Given the description of an element on the screen output the (x, y) to click on. 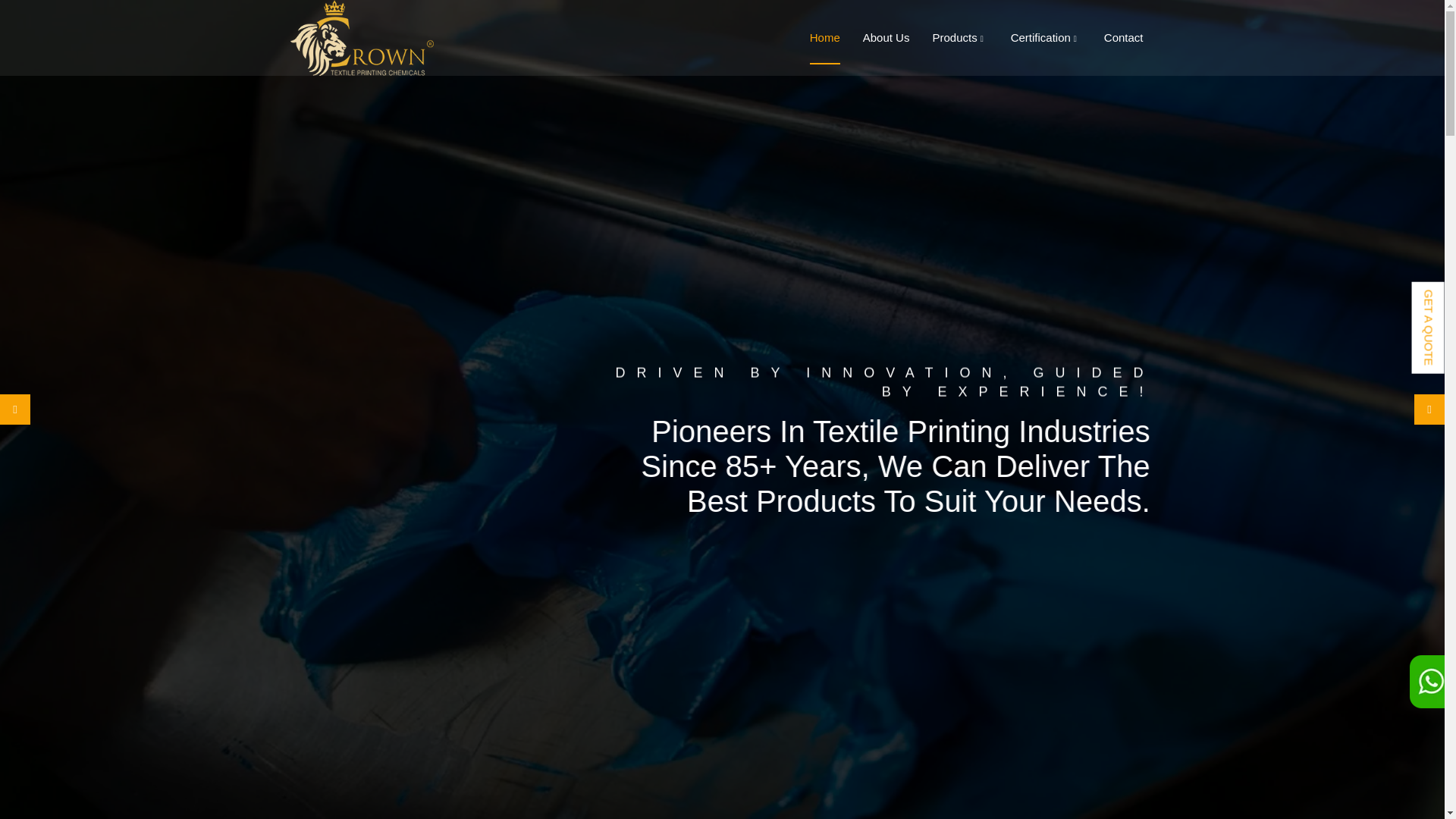
Contact (1122, 36)
Products (959, 37)
Home (824, 36)
Certification (1045, 37)
About Us (886, 36)
